Given the description of an element on the screen output the (x, y) to click on. 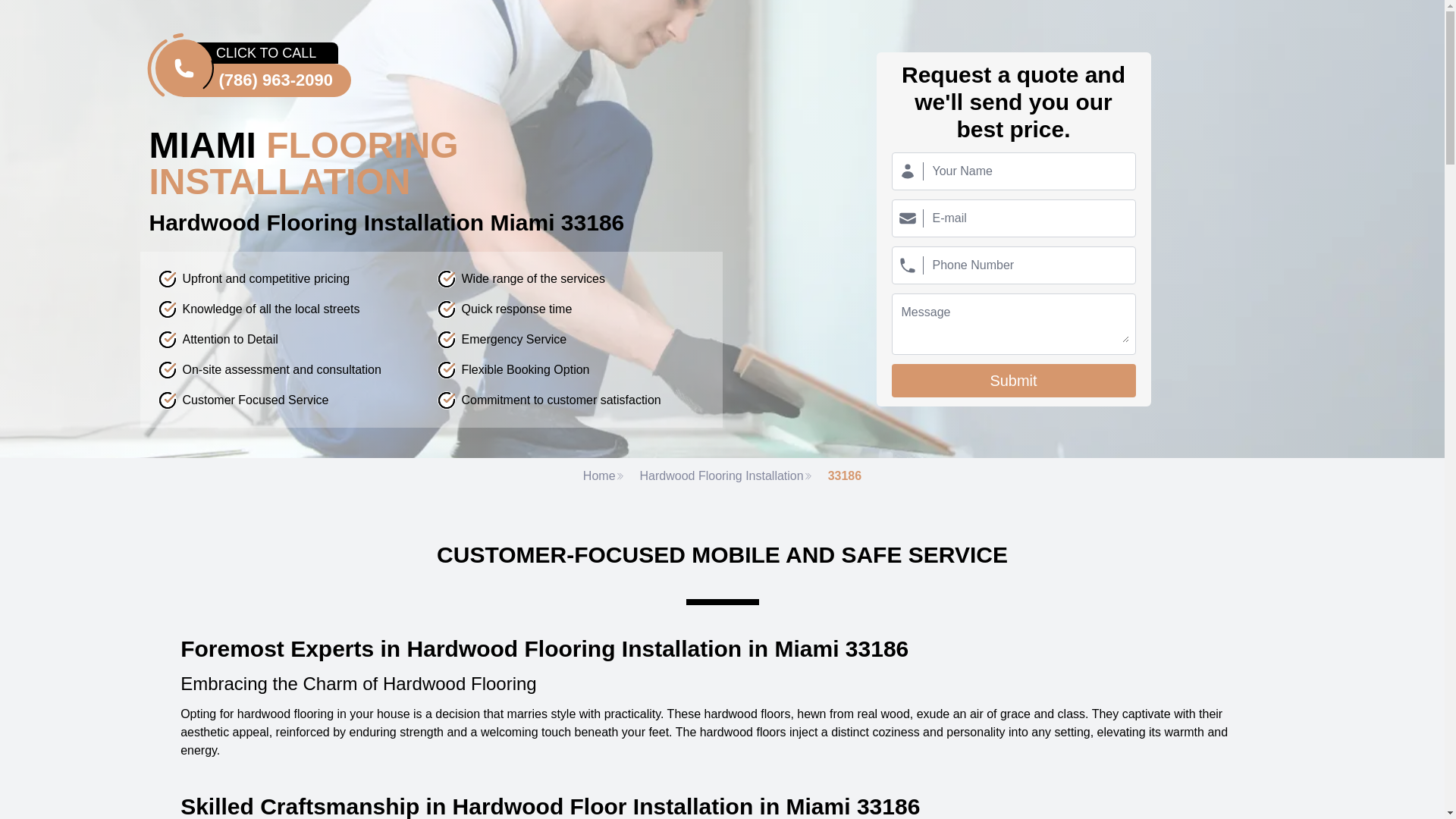
Submit (1013, 380)
Click to call us (261, 68)
Hardwood Flooring Installation (726, 476)
Home (603, 476)
